Given the description of an element on the screen output the (x, y) to click on. 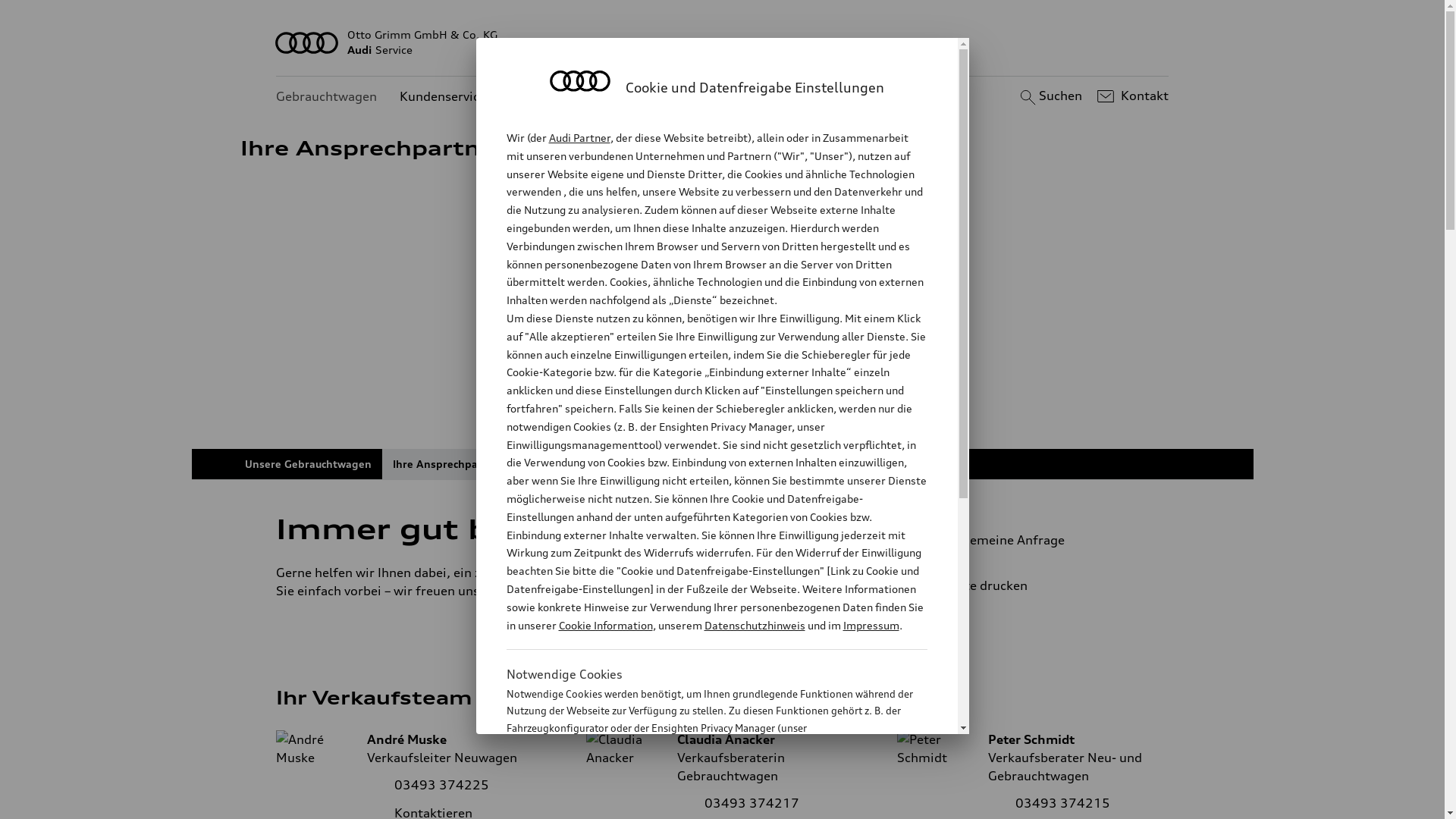
Audi Partner Element type: text (579, 137)
Cookie Information Element type: text (605, 624)
Kundenservice Element type: text (442, 96)
Gebrauchtwagen Element type: text (326, 96)
Claudia Anacker Element type: hover (624, 748)
Datenschutzhinweis Element type: text (753, 624)
03493 374225 Element type: text (441, 784)
Unsere Gebrauchtwagen Element type: text (307, 463)
03493 374217 Element type: text (751, 802)
03493 374215 Element type: text (1062, 802)
Suchen Element type: text (1049, 96)
Allgemeine Anfrage Element type: text (1038, 539)
Ihre Ansprechpartner Element type: text (448, 463)
Cookie Information Element type: text (700, 802)
Seite drucken Element type: text (1044, 585)
Impressum Element type: text (871, 624)
Kontakt Element type: text (1130, 96)
Peter  Schmidt Element type: hover (935, 748)
Otto Grimm GmbH & Co. KG
AudiService Element type: text (722, 42)
